Given the description of an element on the screen output the (x, y) to click on. 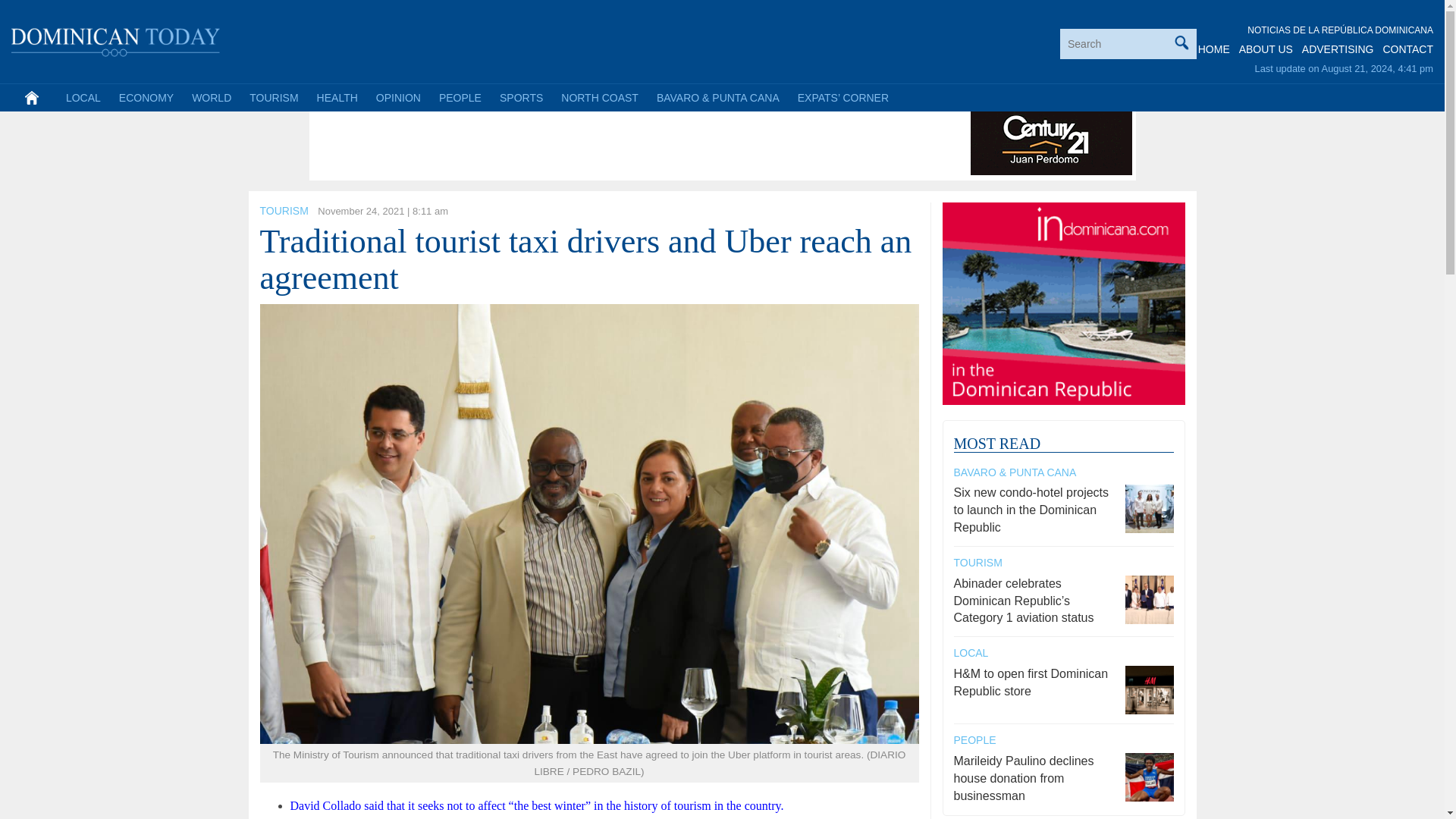
NORTH COAST (599, 97)
TOURISM (283, 210)
CONTACT (1406, 49)
HOME (1214, 49)
ECONOMY (146, 97)
ABOUT US (1265, 49)
OPINION (397, 97)
LOCAL (83, 97)
HEALTH (336, 97)
